Given the description of an element on the screen output the (x, y) to click on. 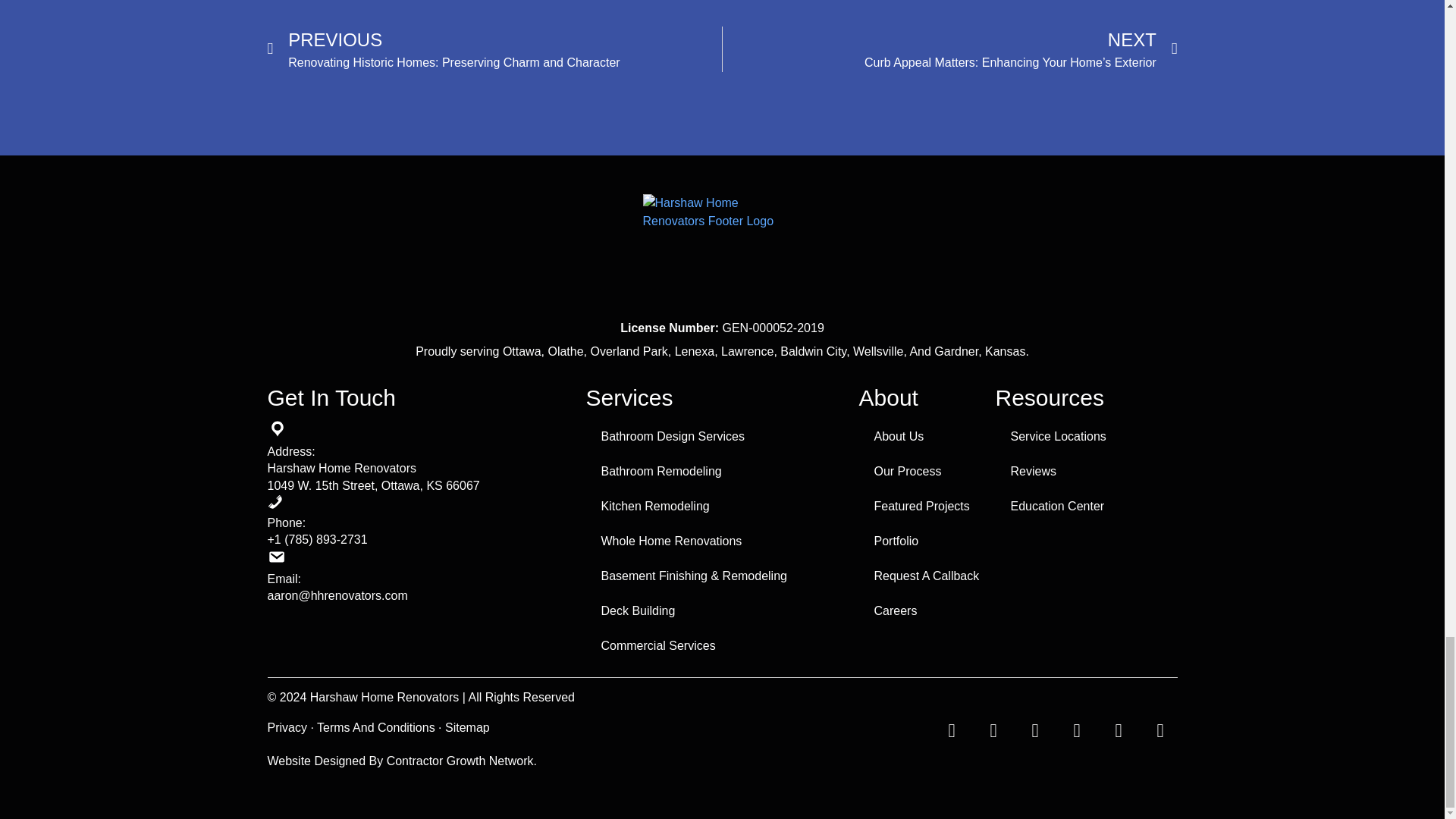
Harshaw Home Renovators Footer Logo (722, 252)
